Given the description of an element on the screen output the (x, y) to click on. 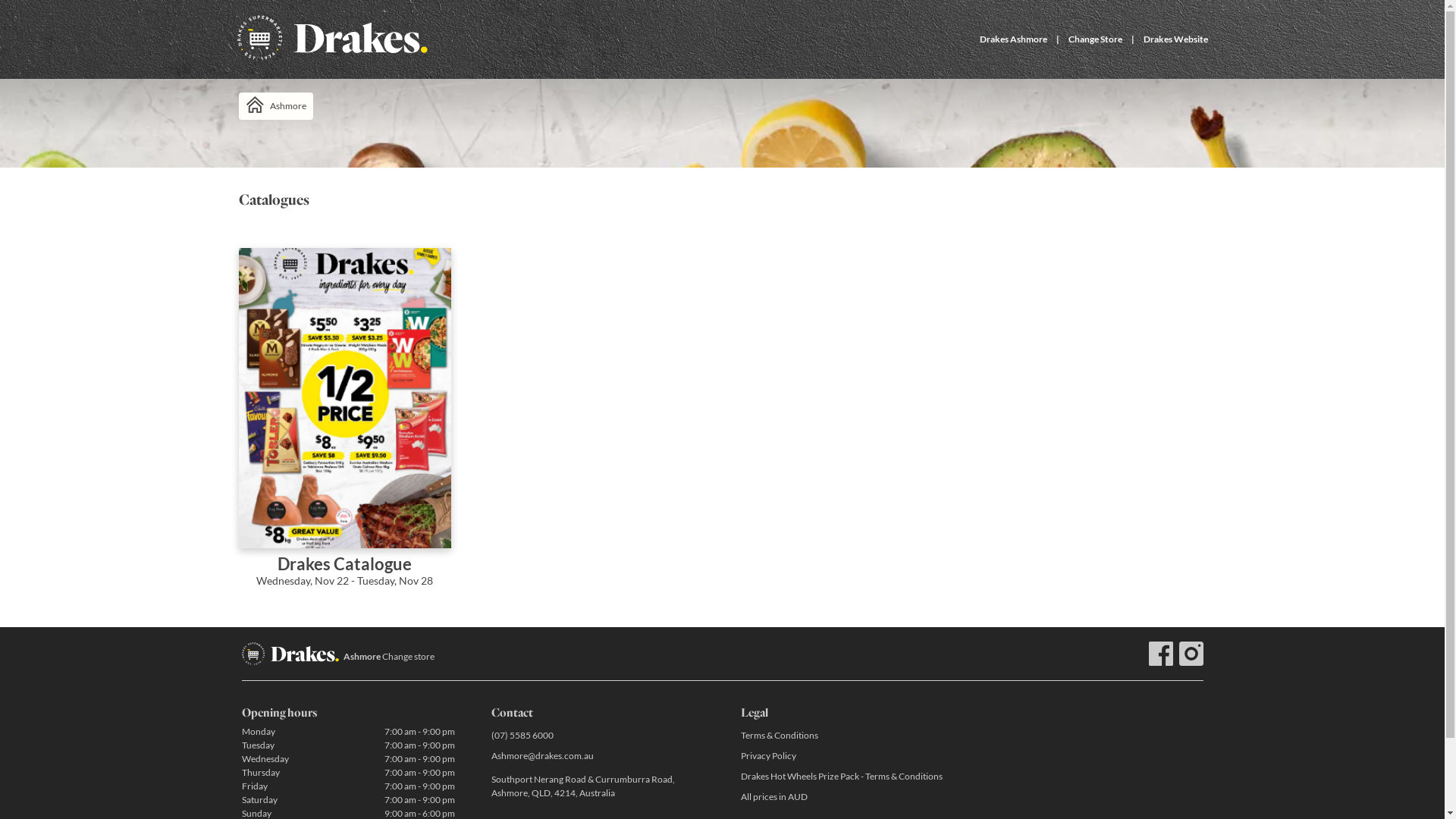
Instagram drakessupermarkets Element type: hover (1190, 653)
Ashmore Change store Element type: text (388, 656)
Facebook Element type: hover (1160, 653)
Ashmore Element type: text (275, 105)
(07) 5585 6000 Element type: text (597, 734)
Drakes Website Element type: text (1175, 38)
Privacy Policy Element type: text (846, 755)
Ashmore@drakes.com.au Element type: text (597, 755)
Drakes Catalogue
Wednesday, Nov 22 - Tuesday, Nov 28 Element type: text (344, 427)
Change Store Element type: text (1094, 38)
Terms & Conditions Element type: text (846, 734)
Drakes Hot Wheels Prize Pack - Terms & Conditions Element type: text (846, 775)
